Given the description of an element on the screen output the (x, y) to click on. 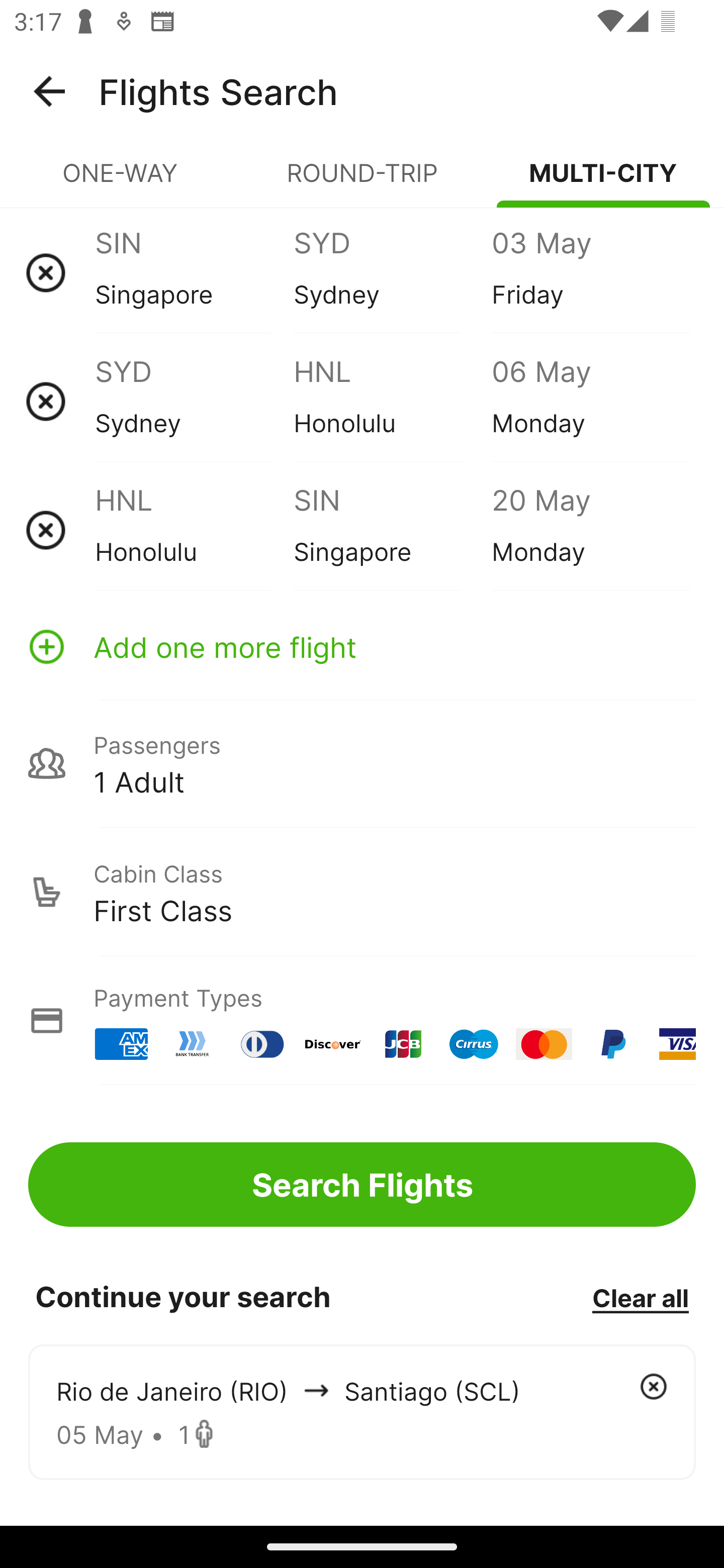
ONE-WAY (120, 180)
ROUND-TRIP (361, 180)
MULTI-CITY (603, 180)
SIN Singapore (193, 272)
SYD Sydney (392, 272)
03 May Friday (590, 272)
SYD Sydney (193, 401)
HNL Honolulu (392, 401)
06 May Monday (590, 401)
HNL Honolulu (193, 529)
SIN Singapore (392, 529)
20 May Monday (590, 529)
Add one more flight (362, 646)
Passengers 1 Adult (362, 762)
Cabin Class First Class (362, 891)
Payment Types (362, 1020)
Search Flights (361, 1184)
Clear all (640, 1297)
